Given the description of an element on the screen output the (x, y) to click on. 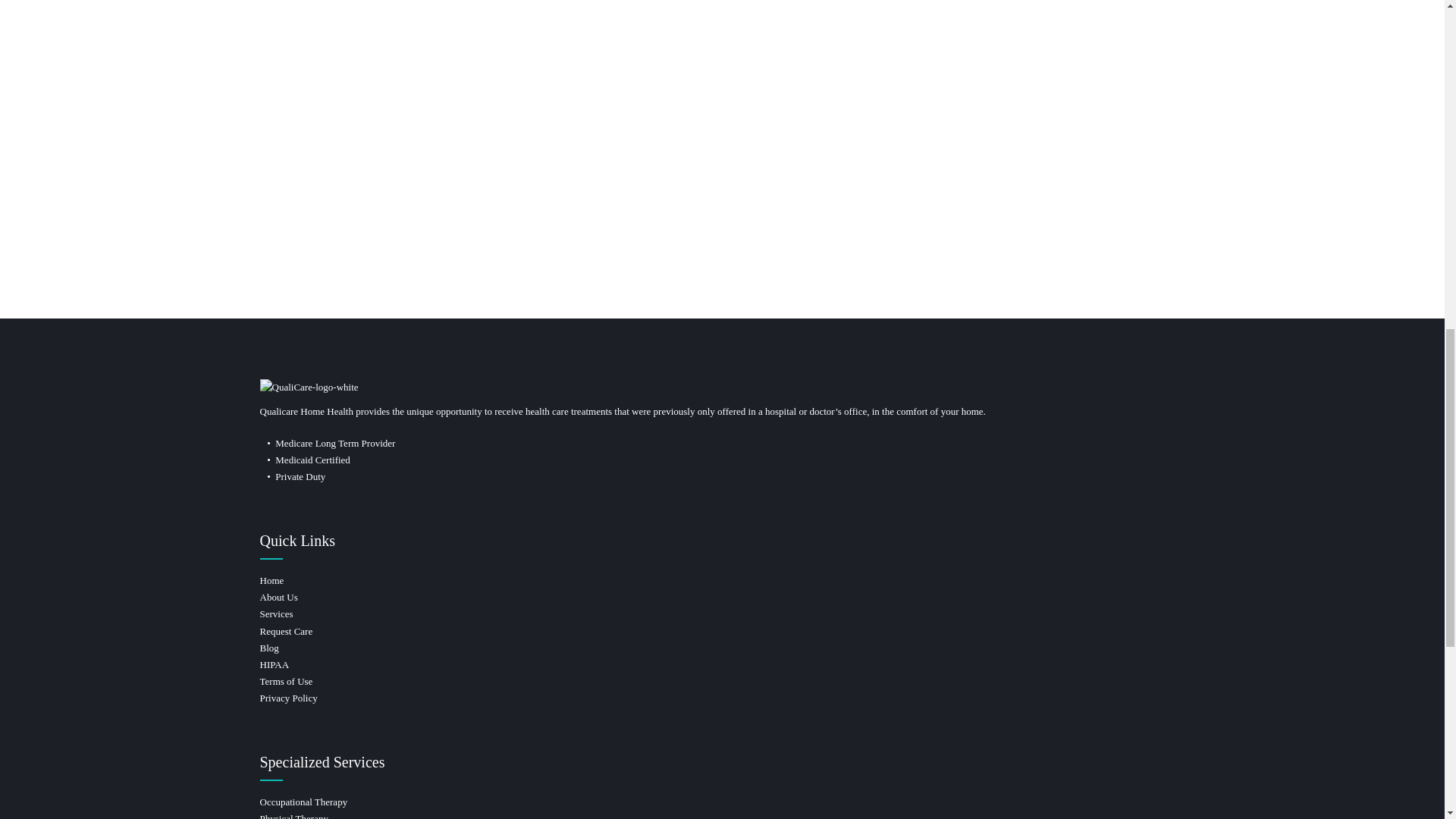
About Us (278, 596)
Occupational Therapy (303, 801)
Privacy Policy (288, 697)
Request Care (286, 631)
Blog (268, 647)
Physical Therapy (293, 816)
Home (271, 580)
HIPAA (273, 664)
Services (275, 613)
Terms of Use (286, 681)
